Given the description of an element on the screen output the (x, y) to click on. 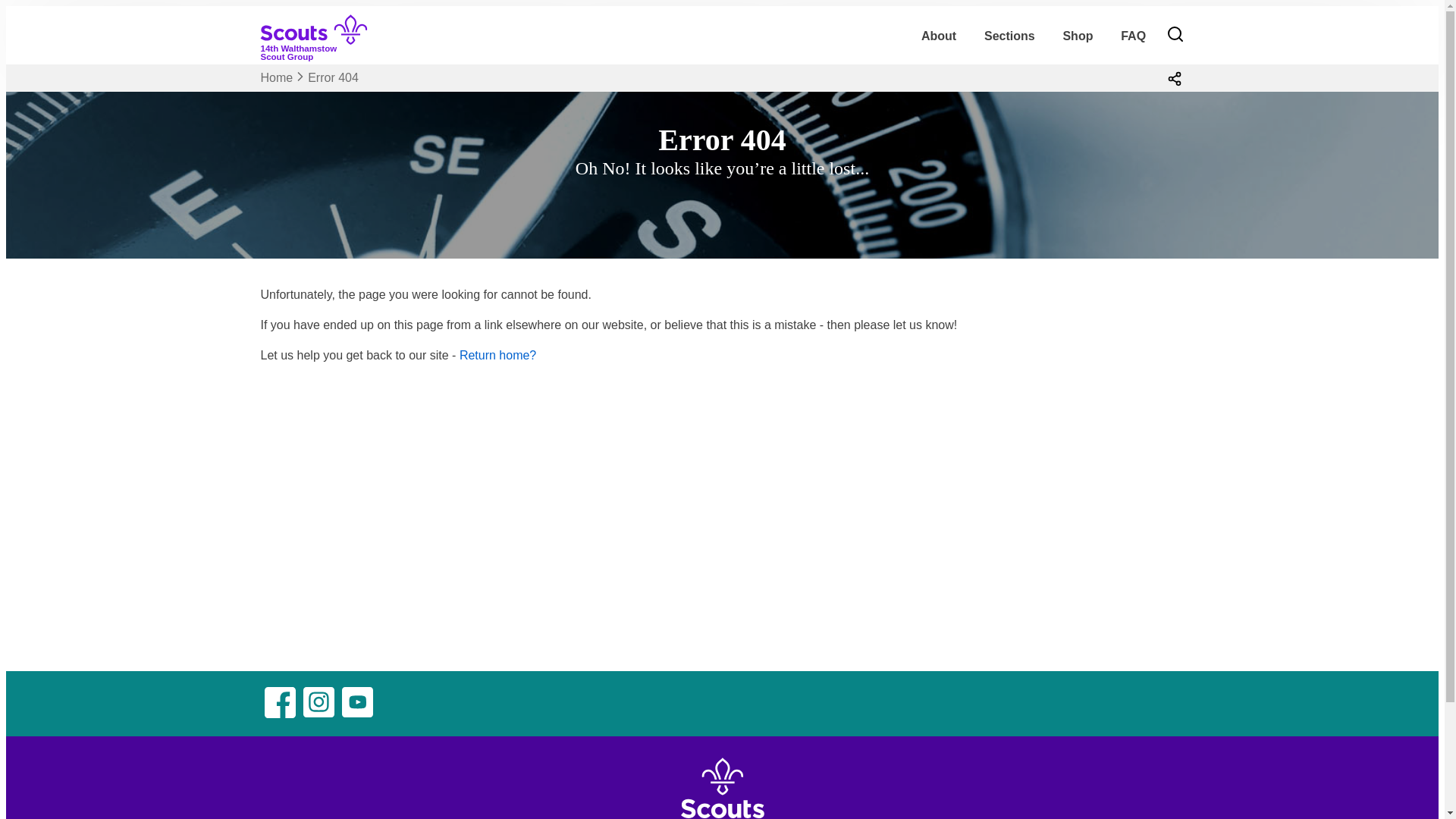
Home (277, 77)
About (938, 36)
Sections (1009, 36)
Return home? (497, 354)
Home (320, 49)
Skip to content (277, 77)
